Given the description of an element on the screen output the (x, y) to click on. 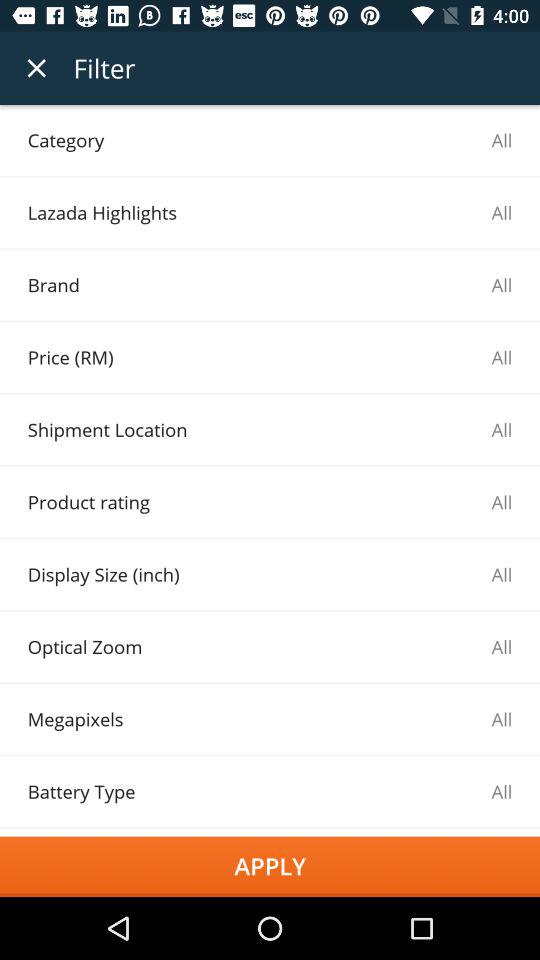
turn on icon below the all (270, 866)
